Given the description of an element on the screen output the (x, y) to click on. 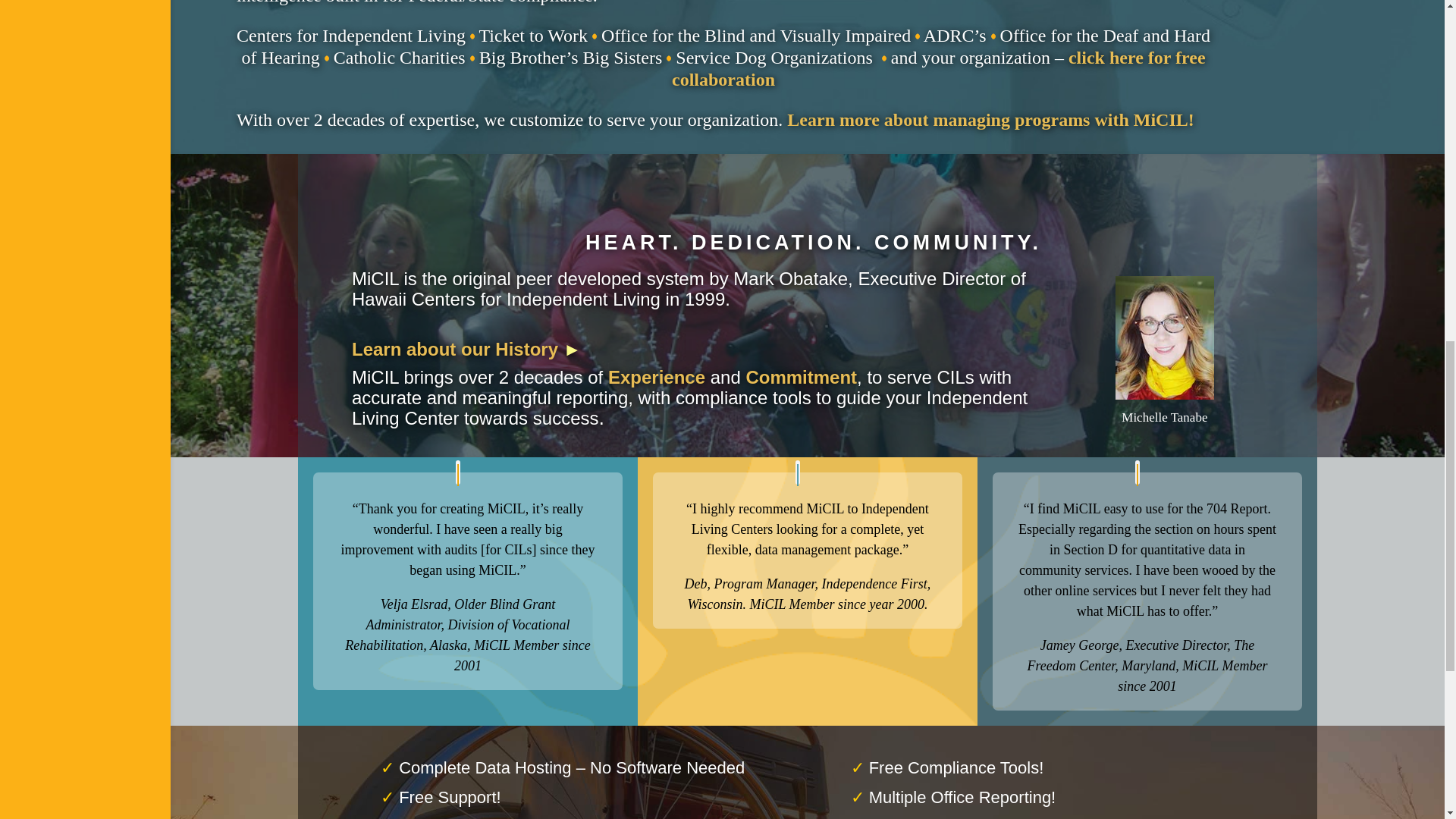
Learn about our History (454, 349)
click here for free collaboration (938, 68)
Learn more about managing programs with MiCIL! (990, 119)
